Given the description of an element on the screen output the (x, y) to click on. 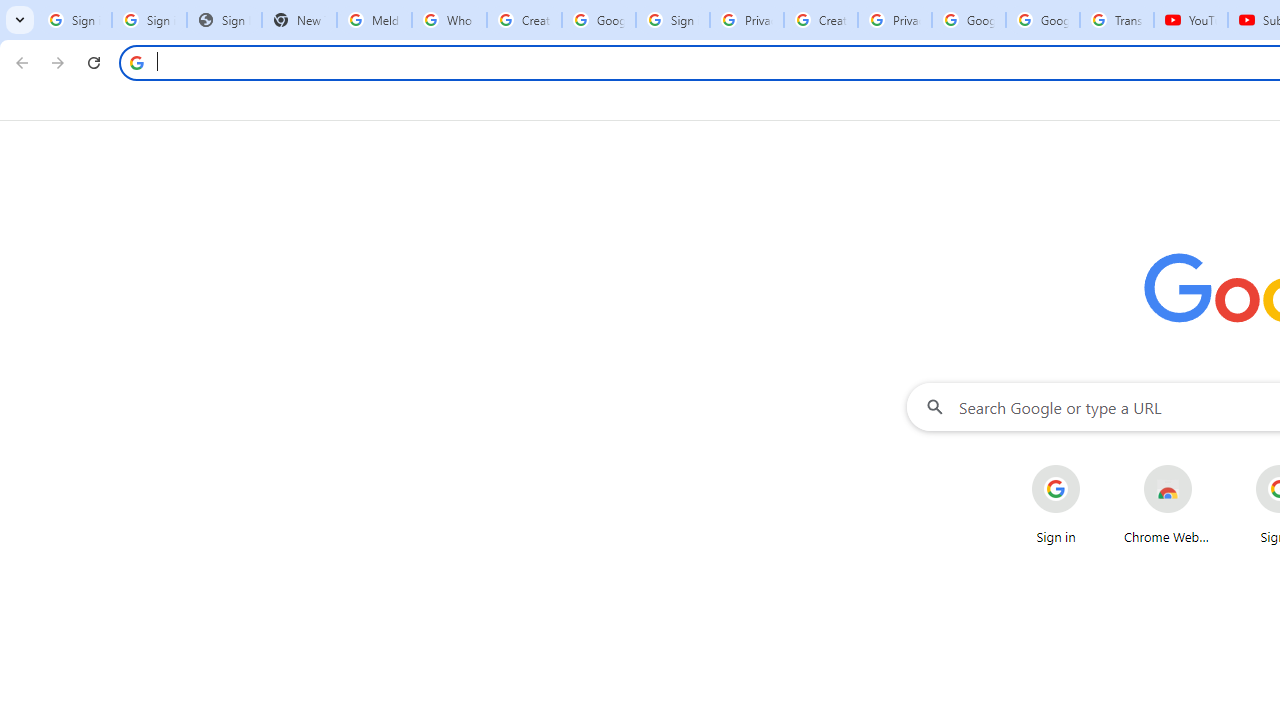
Sign In - USA TODAY (224, 20)
Create your Google Account (820, 20)
Chrome Web Store (1167, 504)
Sign in - Google Accounts (148, 20)
Who is my administrator? - Google Account Help (449, 20)
Google Account (1043, 20)
Sign in - Google Accounts (673, 20)
Search icon (136, 62)
New Tab (299, 20)
